Given the description of an element on the screen output the (x, y) to click on. 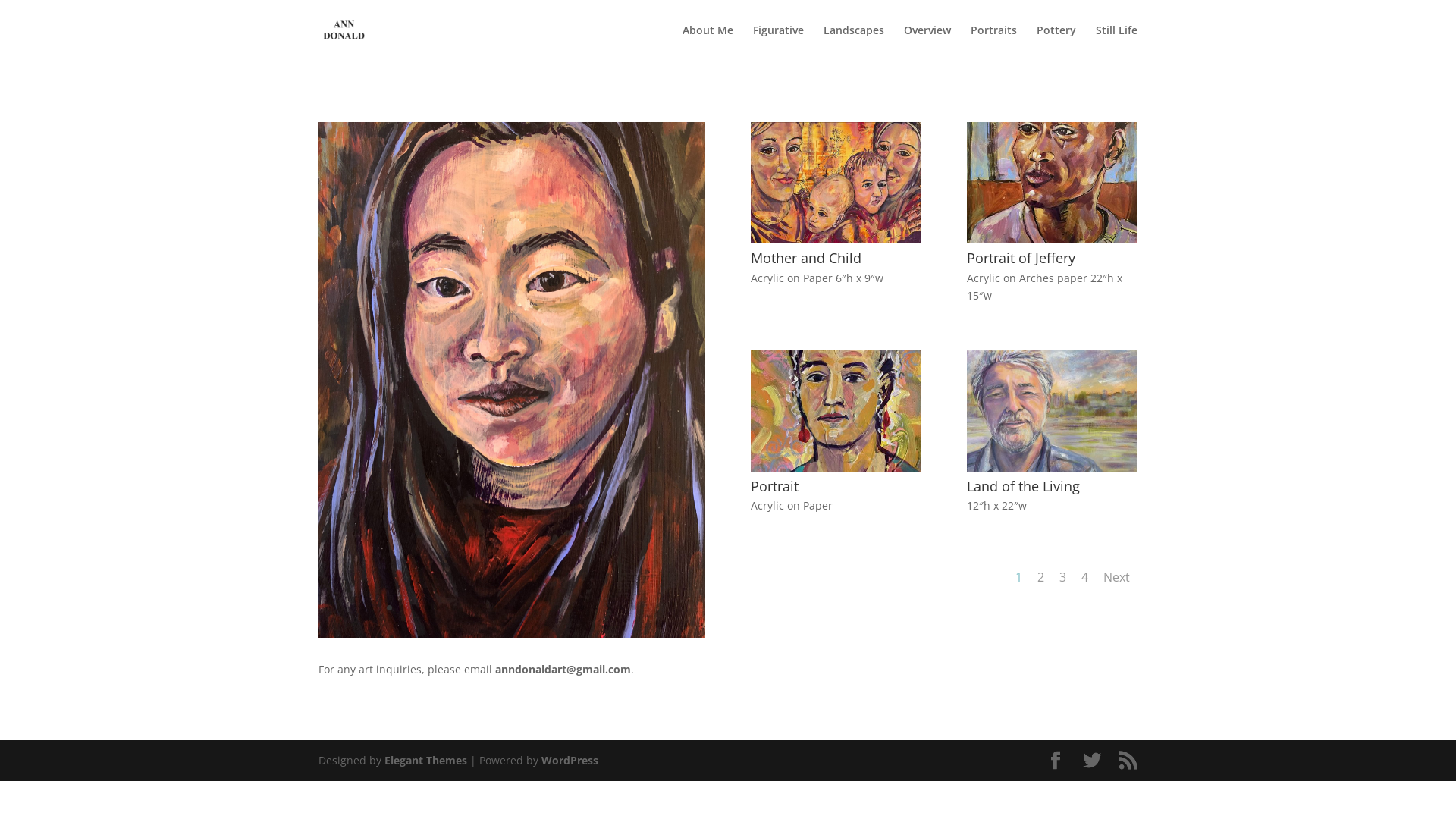
11 Element type: text (517, 607)
9 Element type: text (492, 607)
About Me Element type: text (707, 42)
Next Element type: text (1116, 576)
Still Life Element type: text (1116, 42)
7 Element type: text (466, 607)
Elegant Themes Element type: text (425, 760)
1 Element type: text (389, 607)
3 Element type: text (414, 607)
5 Element type: text (440, 607)
Jessica Element type: hover (511, 633)
3 Element type: text (1062, 576)
20 Element type: text (634, 607)
16 Element type: text (582, 607)
Overview Element type: text (926, 42)
8 Element type: text (479, 607)
Portrait of Jeffery Element type: hover (1051, 239)
13 Element type: text (543, 607)
2 Element type: text (401, 607)
6 Element type: text (453, 607)
19 Element type: text (621, 607)
Portrait Element type: hover (835, 467)
Mother and Child Element type: hover (835, 239)
4 Element type: text (1084, 576)
Figurative Element type: text (778, 42)
4 Element type: text (427, 607)
12 Element type: text (530, 607)
Landscapes Element type: text (853, 42)
Pottery Element type: text (1056, 42)
18 Element type: text (608, 607)
1 Element type: text (1018, 576)
Land of the Living Element type: hover (1051, 467)
Portraits Element type: text (993, 42)
14 Element type: text (556, 607)
2 Element type: text (1040, 576)
10 Element type: text (505, 607)
15 Element type: text (569, 607)
WordPress Element type: text (569, 760)
17 Element type: text (595, 607)
